Given the description of an element on the screen output the (x, y) to click on. 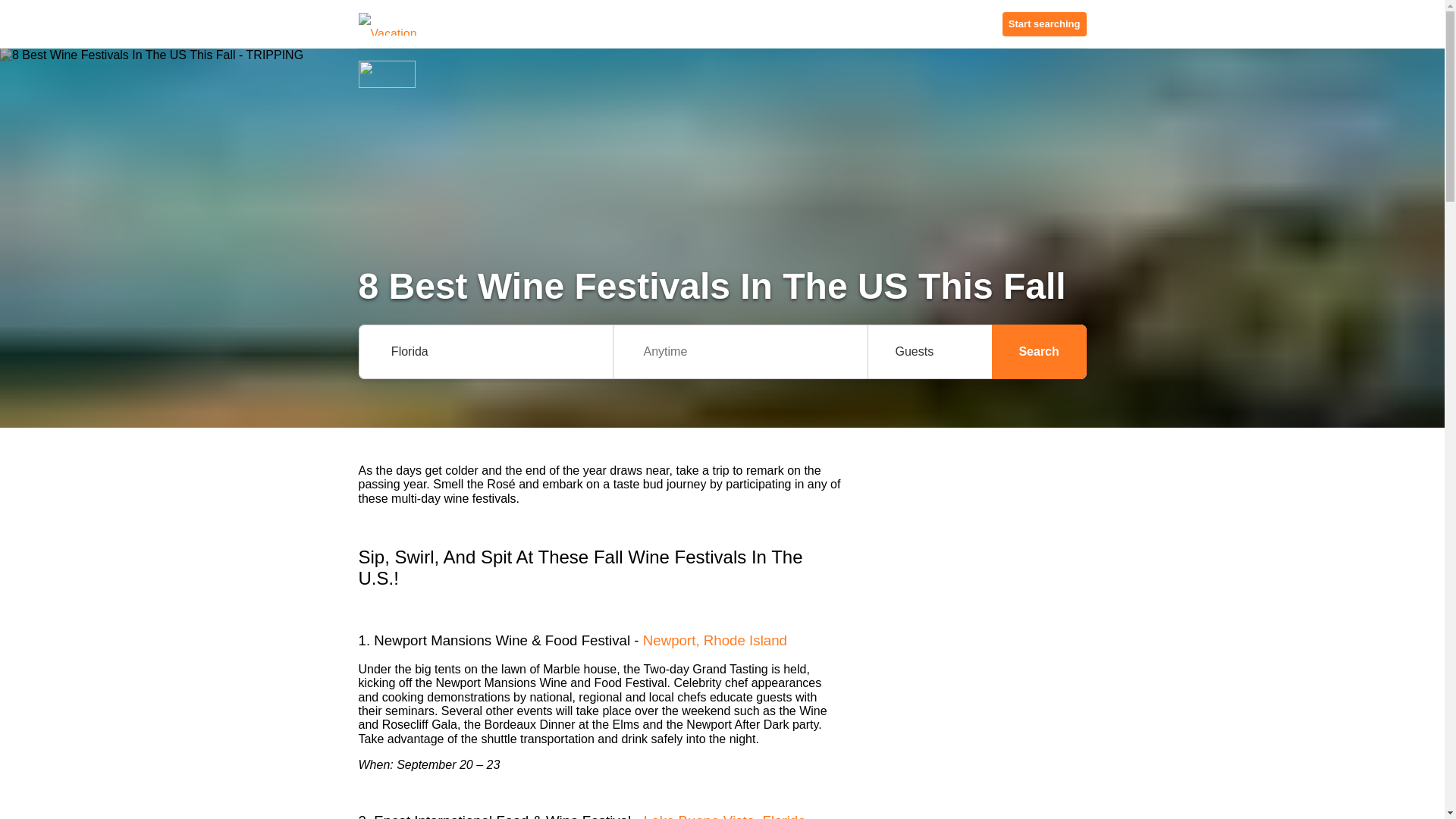
Start searching (1044, 24)
Lake Buena Vista, Florida (724, 816)
Newport, Rhode Island (715, 640)
Search (1038, 351)
